Given the description of an element on the screen output the (x, y) to click on. 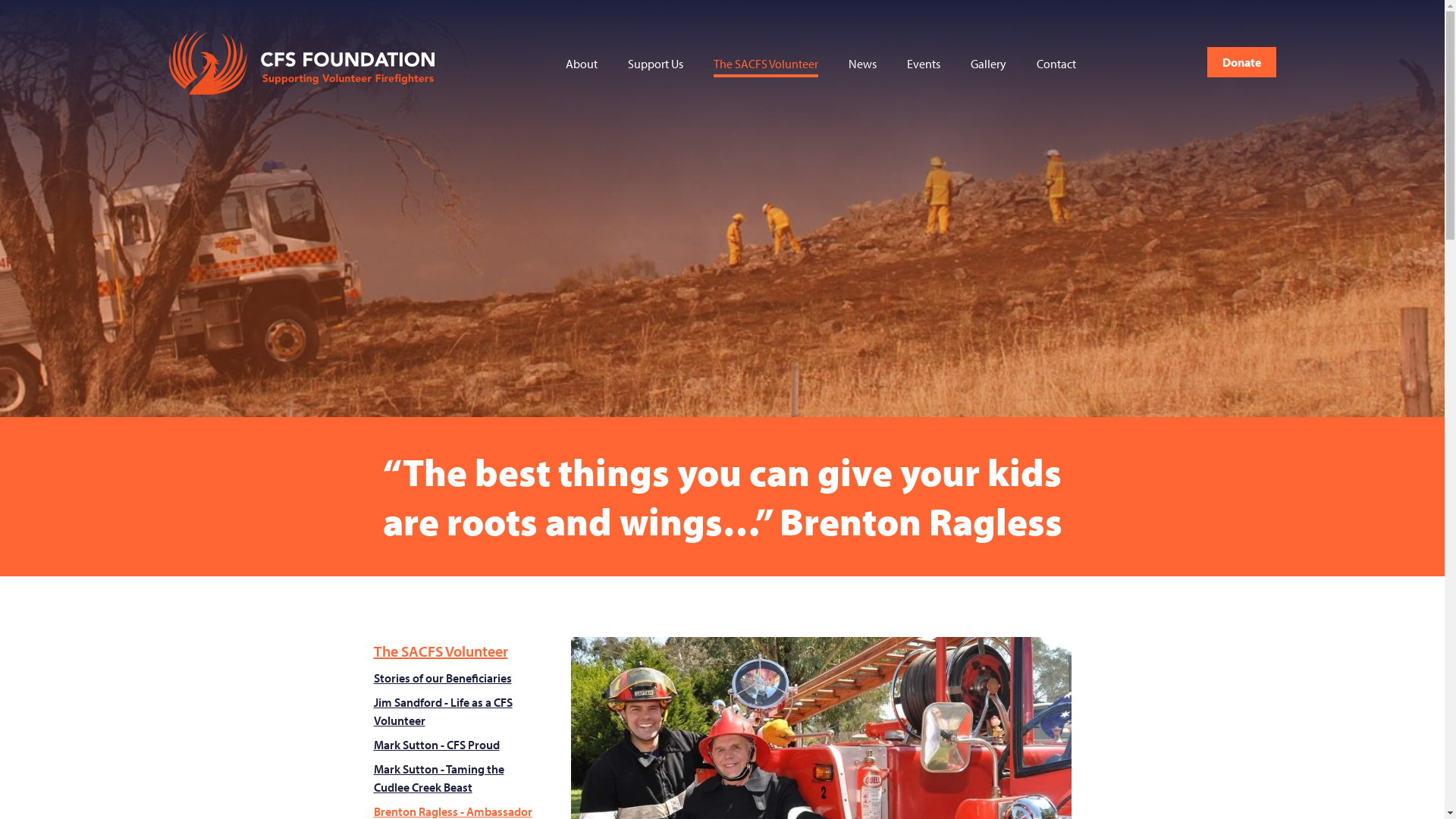
About Element type: text (581, 63)
The SACFS Volunteer Element type: text (456, 651)
Donate Element type: text (1241, 62)
Events Element type: text (923, 63)
Jim Sandford - Life as a CFS Volunteer Element type: text (456, 711)
Stories of our Beneficiaries Element type: text (456, 677)
Mark Sutton - Taming the Cudlee Creek Beast Element type: text (456, 777)
The SACFS Volunteer Element type: text (764, 63)
Support Us Element type: text (655, 63)
Gallery Element type: text (988, 63)
News Element type: text (861, 63)
Mark Sutton - CFS Proud Element type: text (456, 744)
Contact Element type: text (1055, 63)
